Given the description of an element on the screen output the (x, y) to click on. 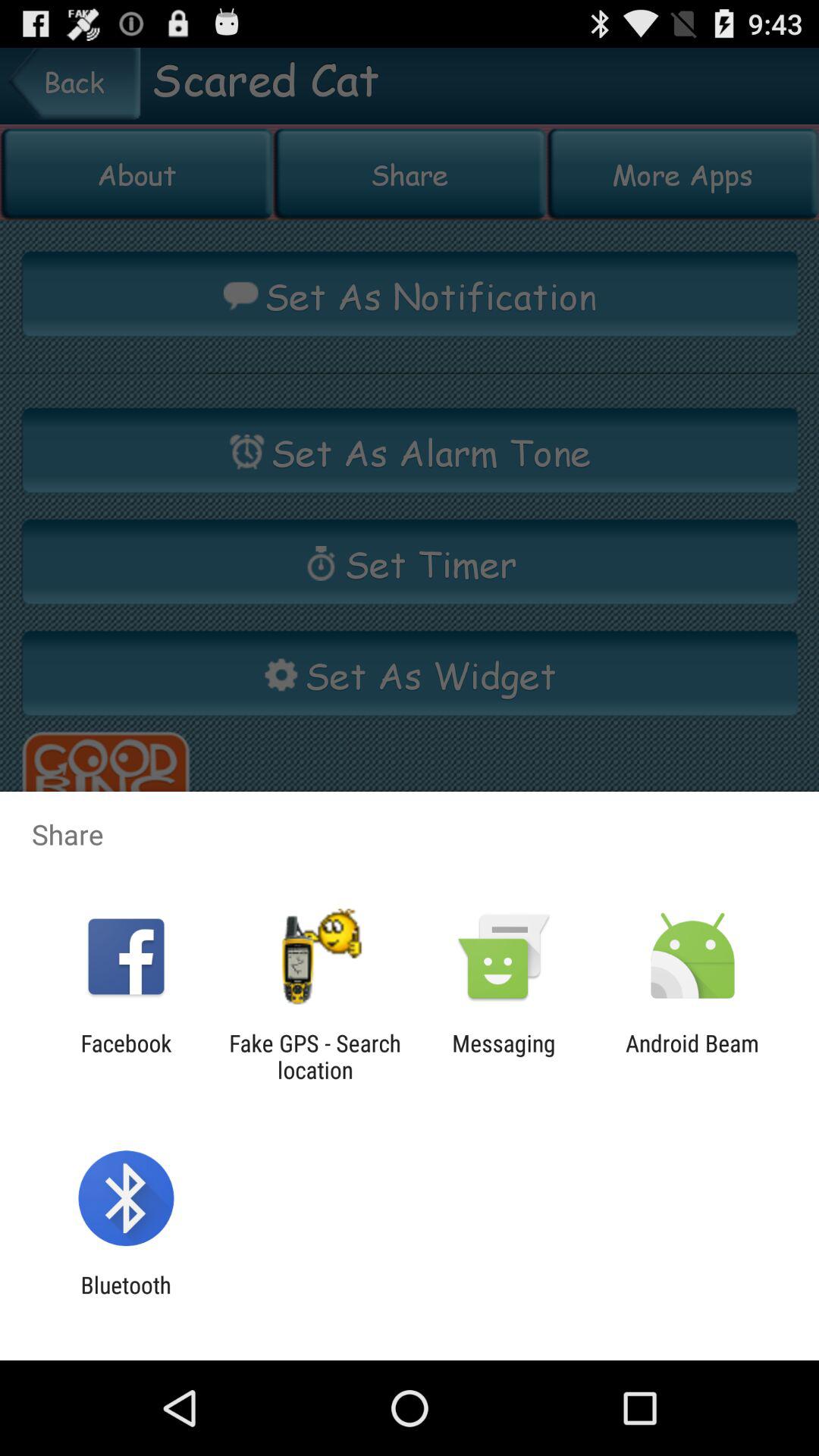
jump to the messaging app (503, 1056)
